Given the description of an element on the screen output the (x, y) to click on. 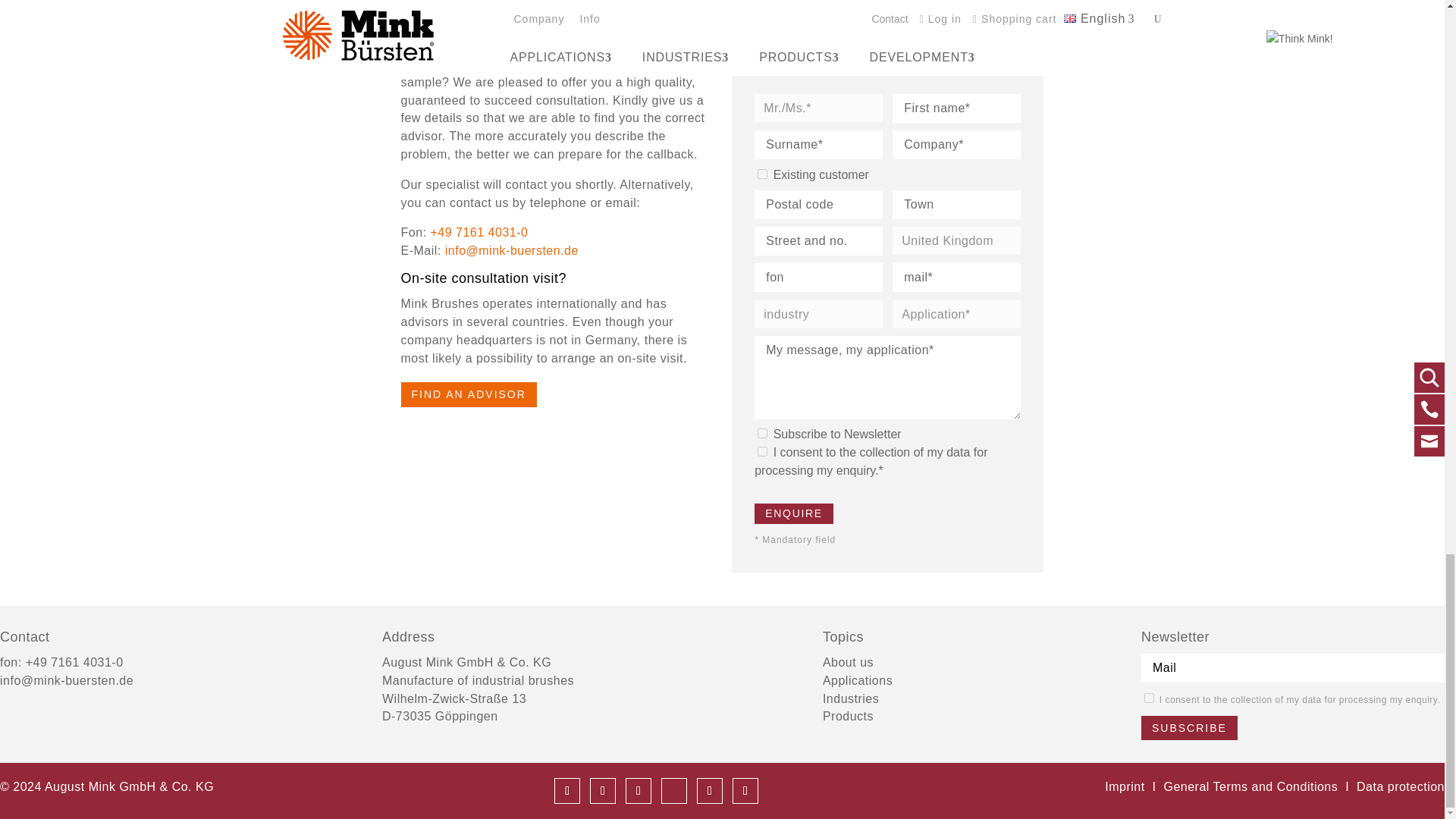
Subscribe (1189, 727)
Enquire (793, 513)
Subscribe to Newsletter (762, 433)
Existing customer (762, 173)
